Given the description of an element on the screen output the (x, y) to click on. 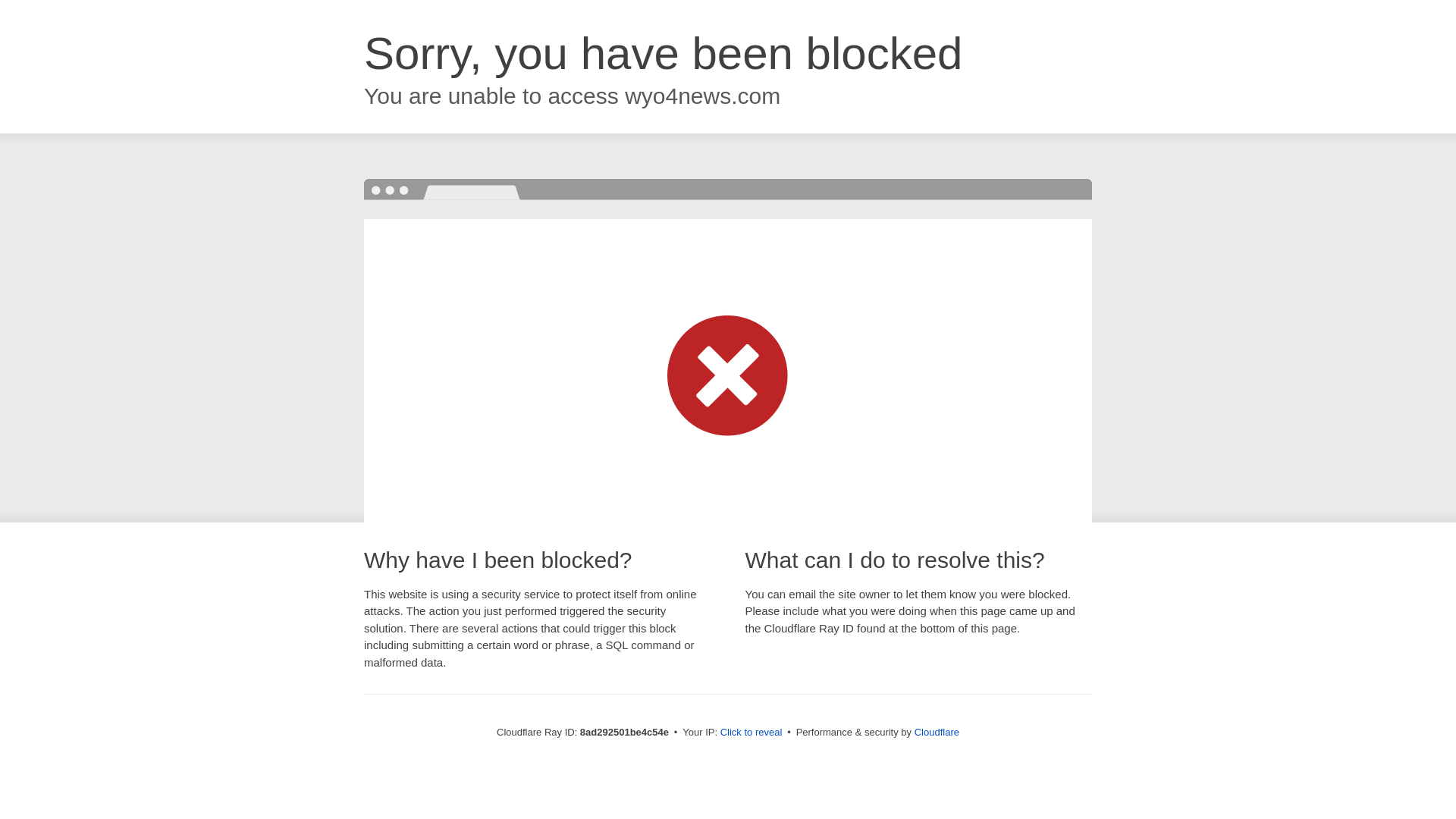
Cloudflare (936, 731)
Click to reveal (751, 732)
